Given the description of an element on the screen output the (x, y) to click on. 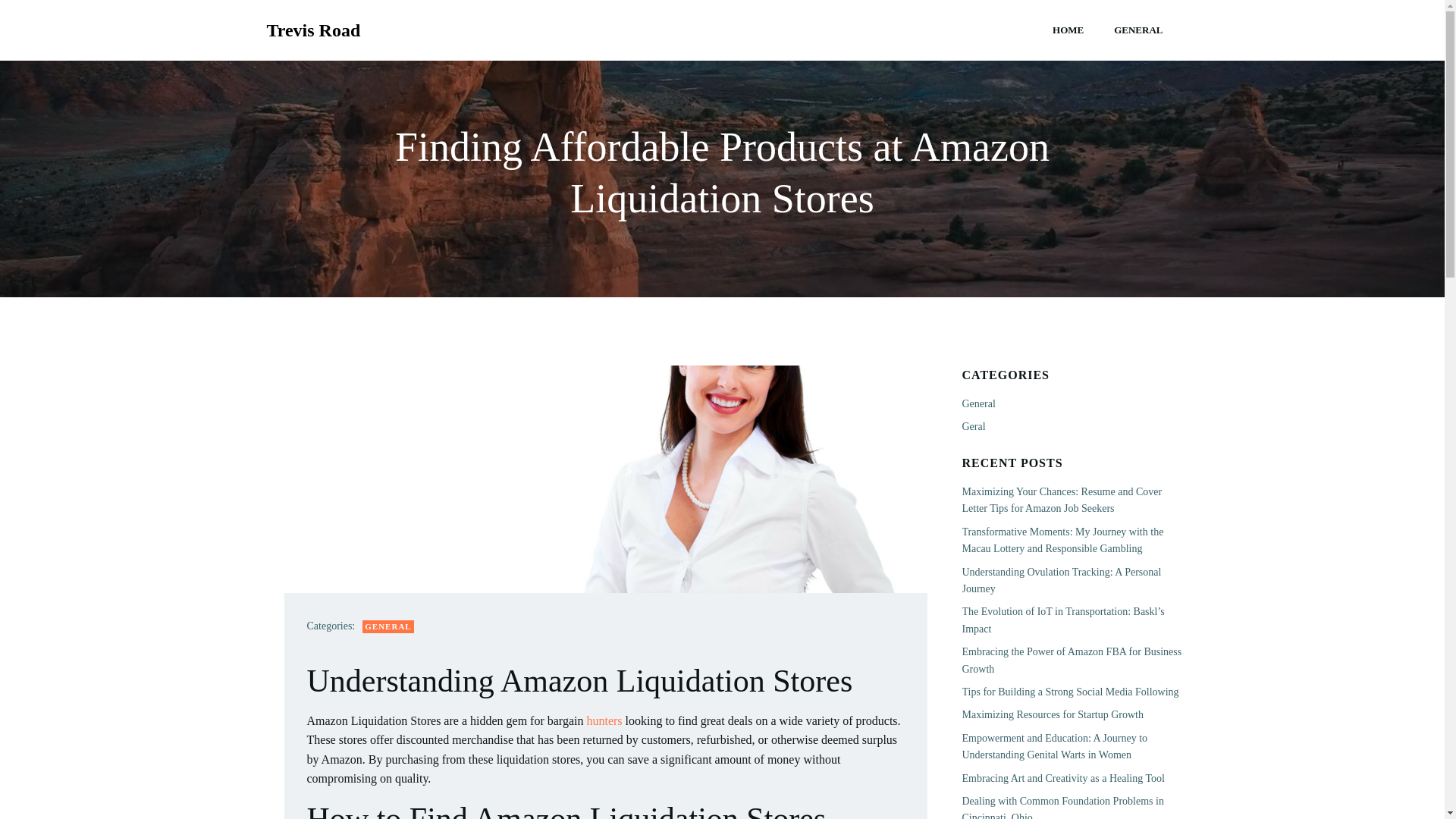
Embracing the Power of Amazon FBA for Business Growth (1070, 660)
GENERAL (1137, 29)
Understanding Ovulation Tracking: A Personal Journey (1060, 580)
GENERAL (387, 626)
Embracing Art and Creativity as a Healing Tool (1061, 777)
Geral (972, 426)
Tips for Building a Strong Social Media Following (1068, 691)
Maximizing Resources for Startup Growth (1051, 714)
General (977, 403)
Trevis Road (313, 30)
Dealing with Common Foundation Problems in Cincinnati, Ohio (1061, 807)
hunters (603, 720)
